Given the description of an element on the screen output the (x, y) to click on. 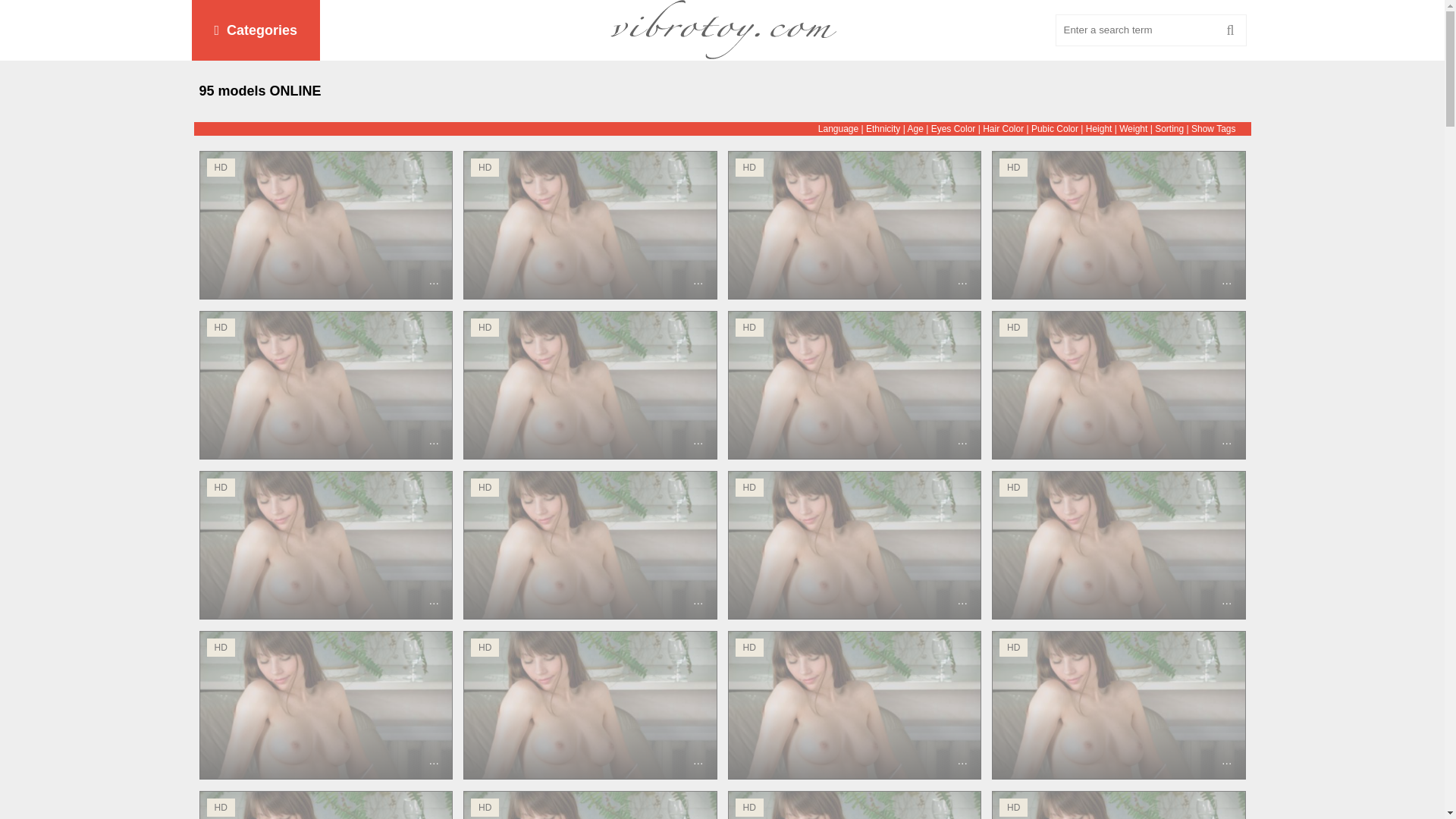
Ethnicity (882, 128)
Pubic Color (1054, 128)
Age (915, 128)
